Given the description of an element on the screen output the (x, y) to click on. 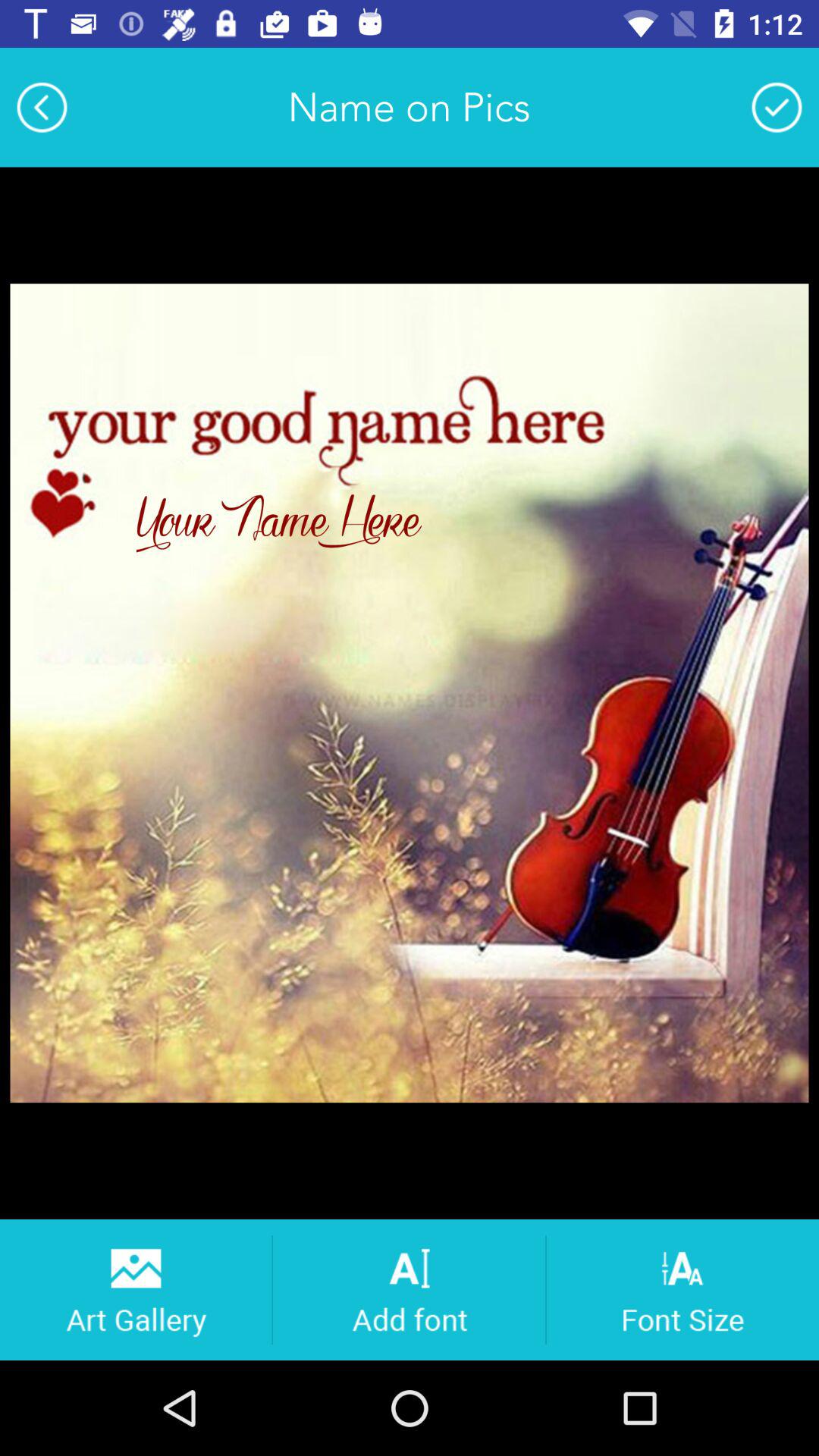
change font size (682, 1289)
